Given the description of an element on the screen output the (x, y) to click on. 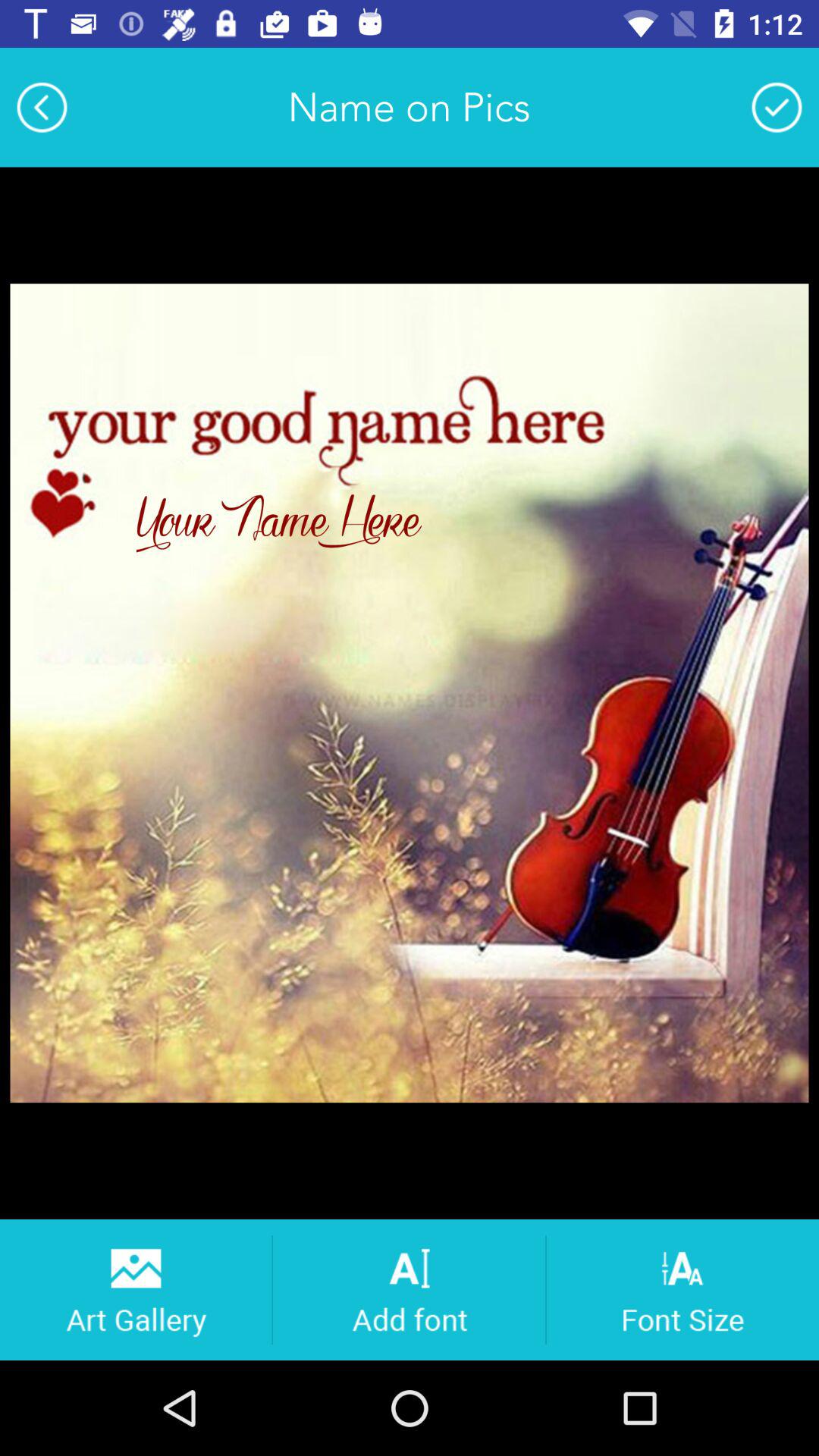
change font size (682, 1289)
